Given the description of an element on the screen output the (x, y) to click on. 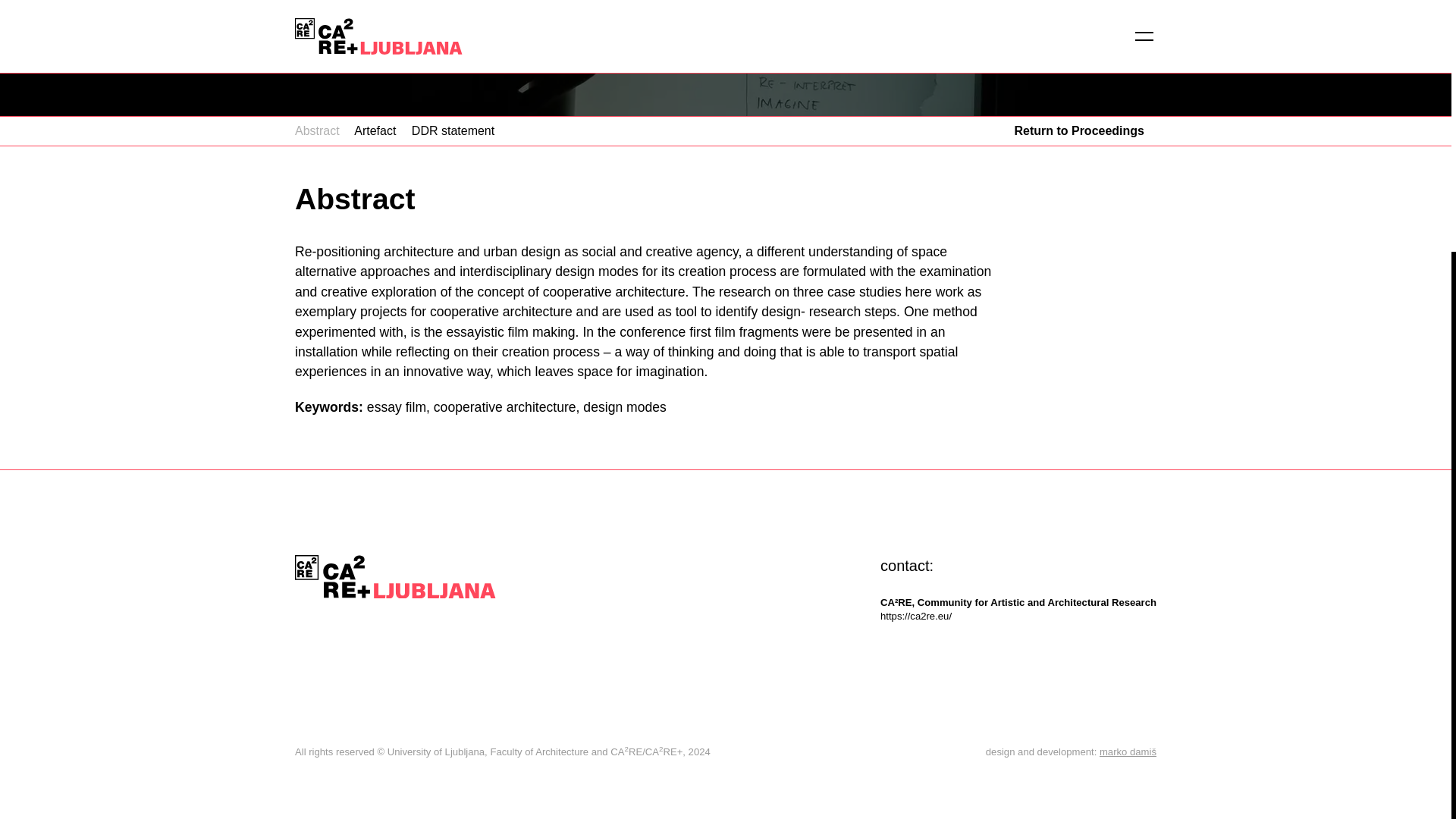
Return to Proceedings (1078, 130)
Abstract (317, 130)
DDR statement (453, 130)
Artefact (374, 130)
